Given the description of an element on the screen output the (x, y) to click on. 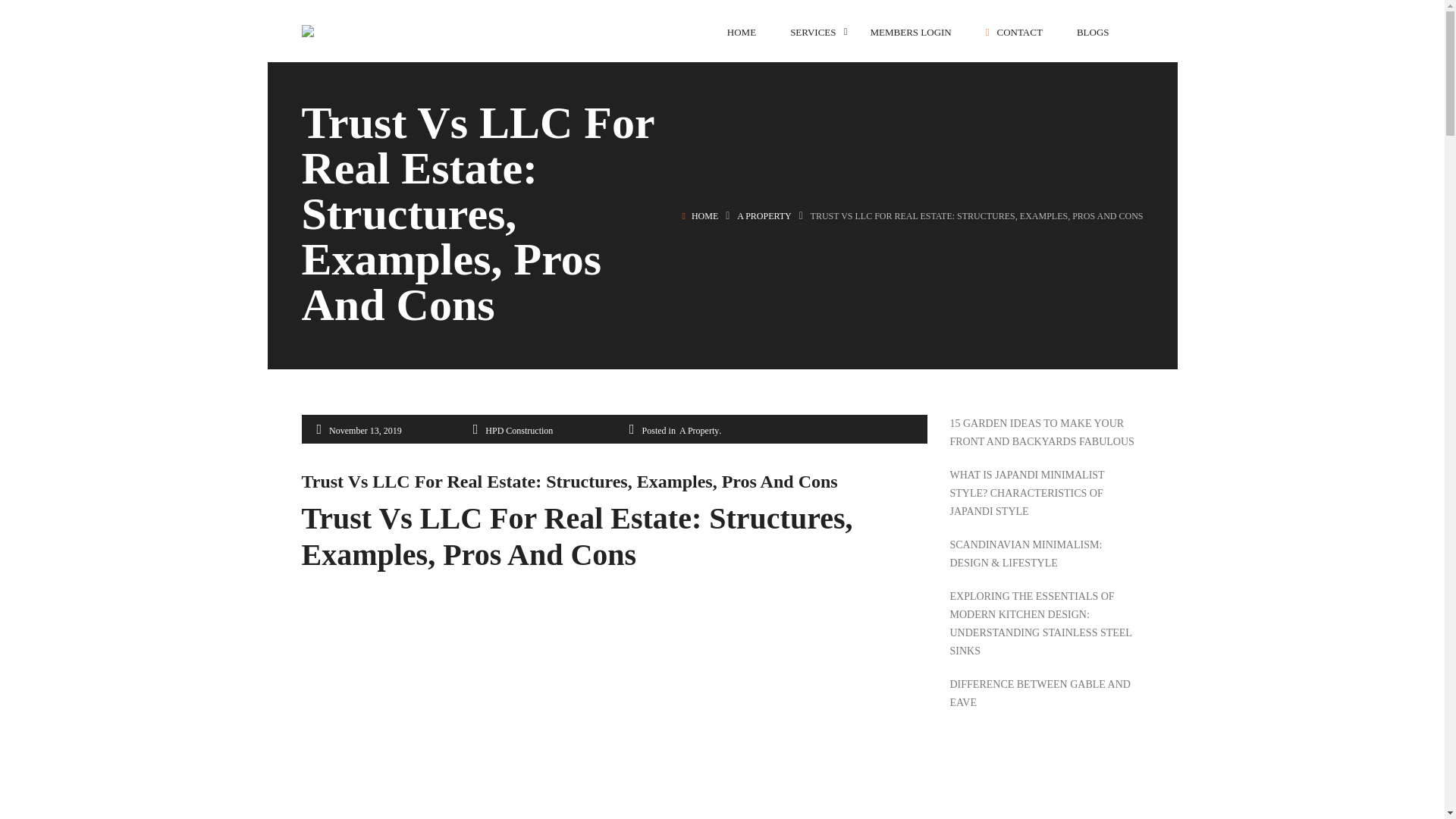
MEMBERS LOGIN (911, 31)
A Property (699, 430)
Land Trust vs LLC: Which is Better for Your Property? (491, 694)
A Property (764, 215)
CONTACT (1013, 31)
HPD Construction (518, 430)
HOME (740, 31)
BLOGS (1093, 31)
November 13, 2019 (365, 430)
SERVICES (812, 31)
